Given the description of an element on the screen output the (x, y) to click on. 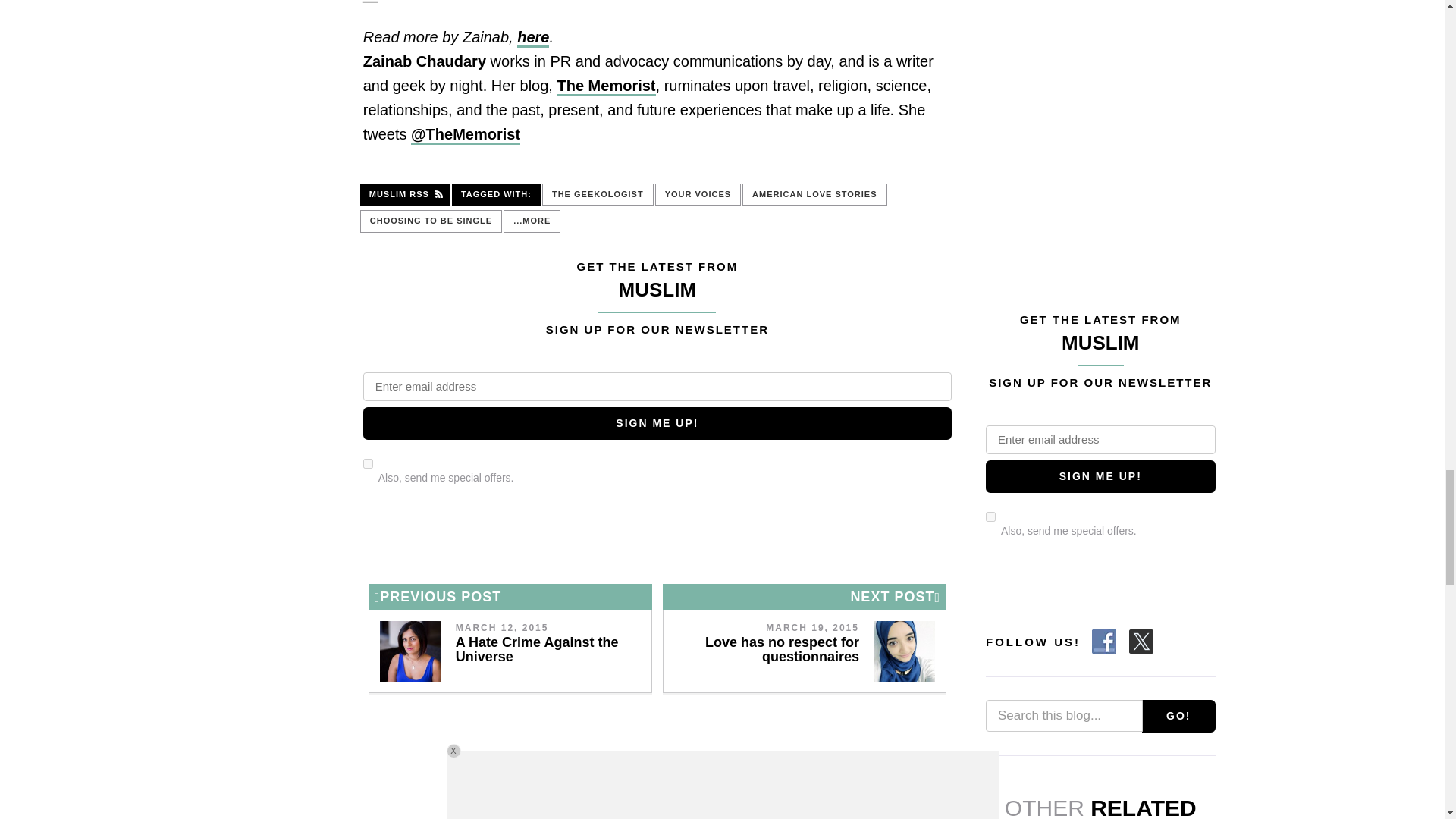
Go! (1177, 716)
true (367, 463)
true (990, 516)
Follow Us on Facebook (1104, 641)
Sign me up! (1100, 476)
Sign me up! (657, 423)
Follow Us on Twitter (1141, 641)
